Given the description of an element on the screen output the (x, y) to click on. 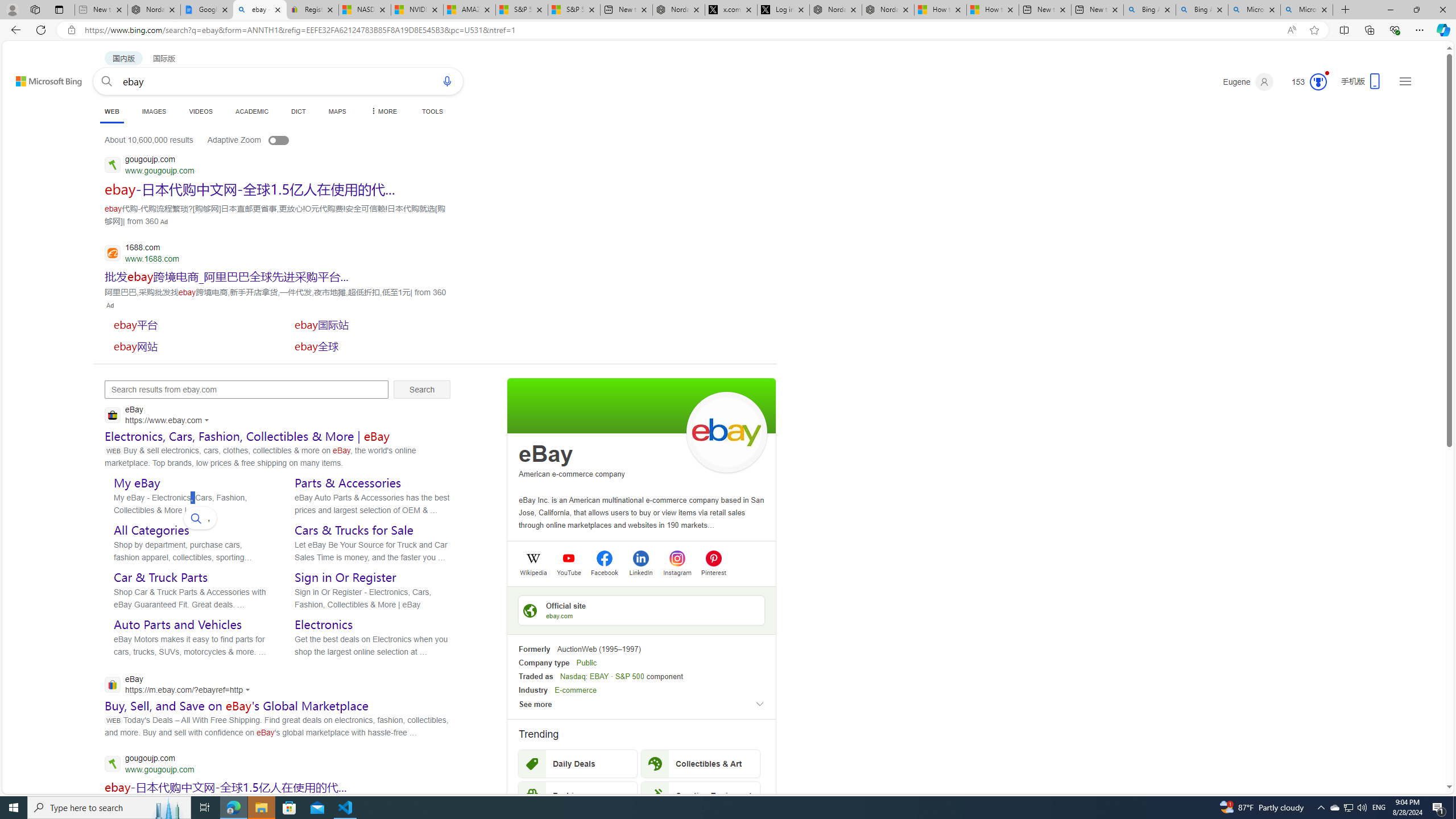
Facebook (603, 571)
SERP,5715 (370, 345)
Parts & Accessories (347, 482)
S&P 500, Nasdaq end lower, weighed by Nvidia dip | Watch (574, 9)
EBAY (598, 676)
IMAGES (153, 111)
American e-commerce company (572, 474)
Fashion (577, 795)
Pinterest (713, 571)
Traded as (535, 676)
